Given the description of an element on the screen output the (x, y) to click on. 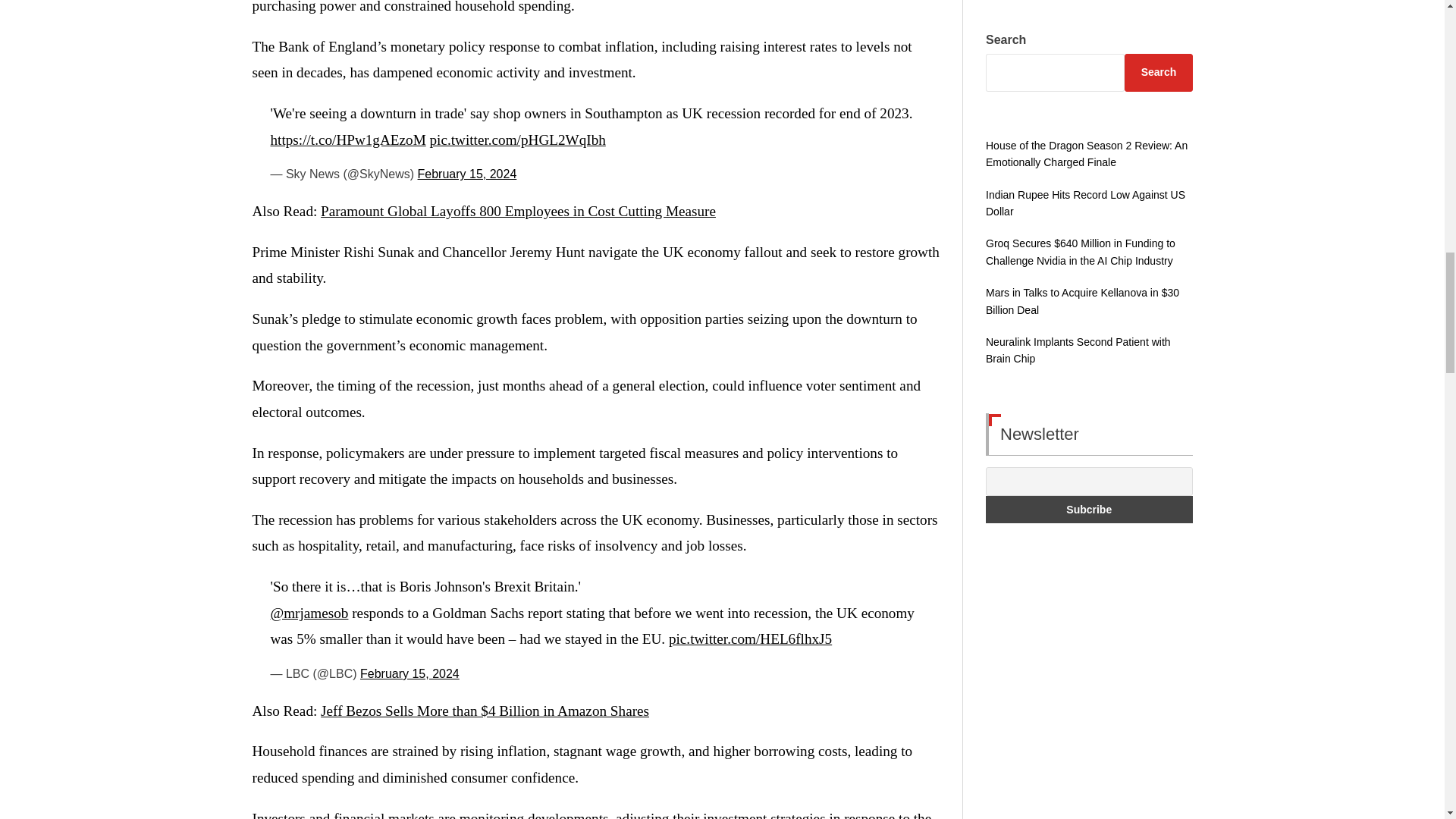
February 15, 2024 (466, 173)
